Given the description of an element on the screen output the (x, y) to click on. 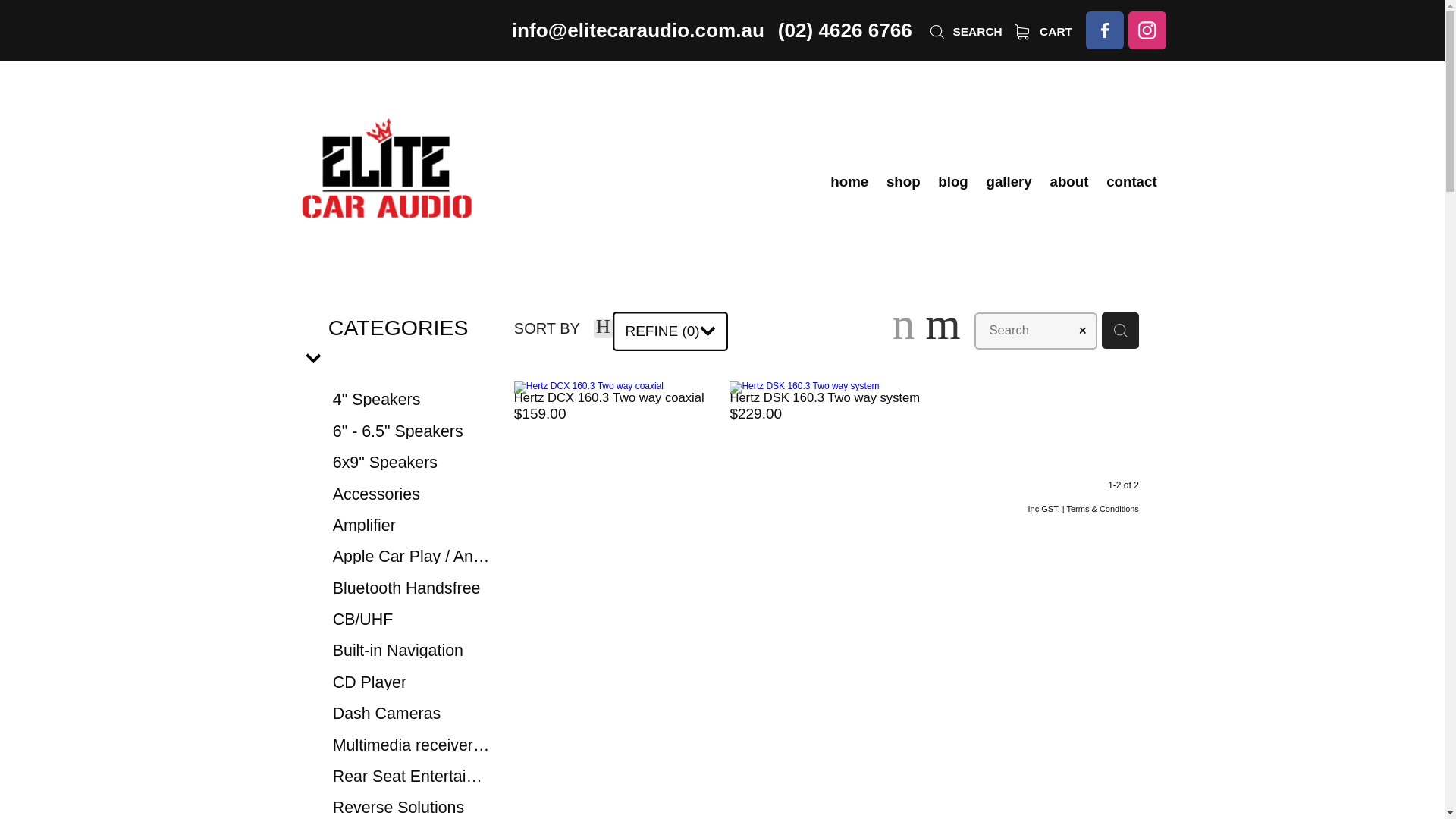
CD Player Element type: text (411, 681)
Hertz DSK 160.3 Two way system Element type: text (824, 397)
6x9" Speakers Element type: text (411, 461)
Hertz DCX 160.3 Two way coaxial Element type: text (609, 397)
Amplifier Element type: text (411, 524)
CB/UHF Element type: text (411, 618)
about Element type: text (1069, 181)
Rear Seat Entertainment Element type: text (411, 775)
4" Speakers Element type: text (411, 399)
Dash Cameras Element type: text (411, 712)
Accessories Element type: text (411, 493)
contact Element type: text (1131, 181)
6" - 6.5" Speakers Element type: text (411, 430)
blog Element type: text (952, 181)
Apple Car Play / Android Auto Element type: text (411, 556)
Reverse Solutions Element type: text (411, 806)
A link to this website's Facebook. Element type: hover (1104, 30)
home Element type: text (849, 181)
A link to this website's Instagram. Element type: hover (1147, 30)
gallery Element type: text (1009, 181)
shop Element type: text (902, 181)
SEARCH Element type: text (965, 31)
Bluetooth Handsfree Element type: text (411, 587)
Multimedia receiver/ AV Element type: text (411, 744)
Terms & Conditions Element type: text (1102, 508)
info@elitecaraudio.com.au Element type: text (637, 29)
REFINE (0) Element type: text (670, 331)
Built-in Navigation Element type: text (411, 650)
CART Element type: text (1043, 31)
